Given the description of an element on the screen output the (x, y) to click on. 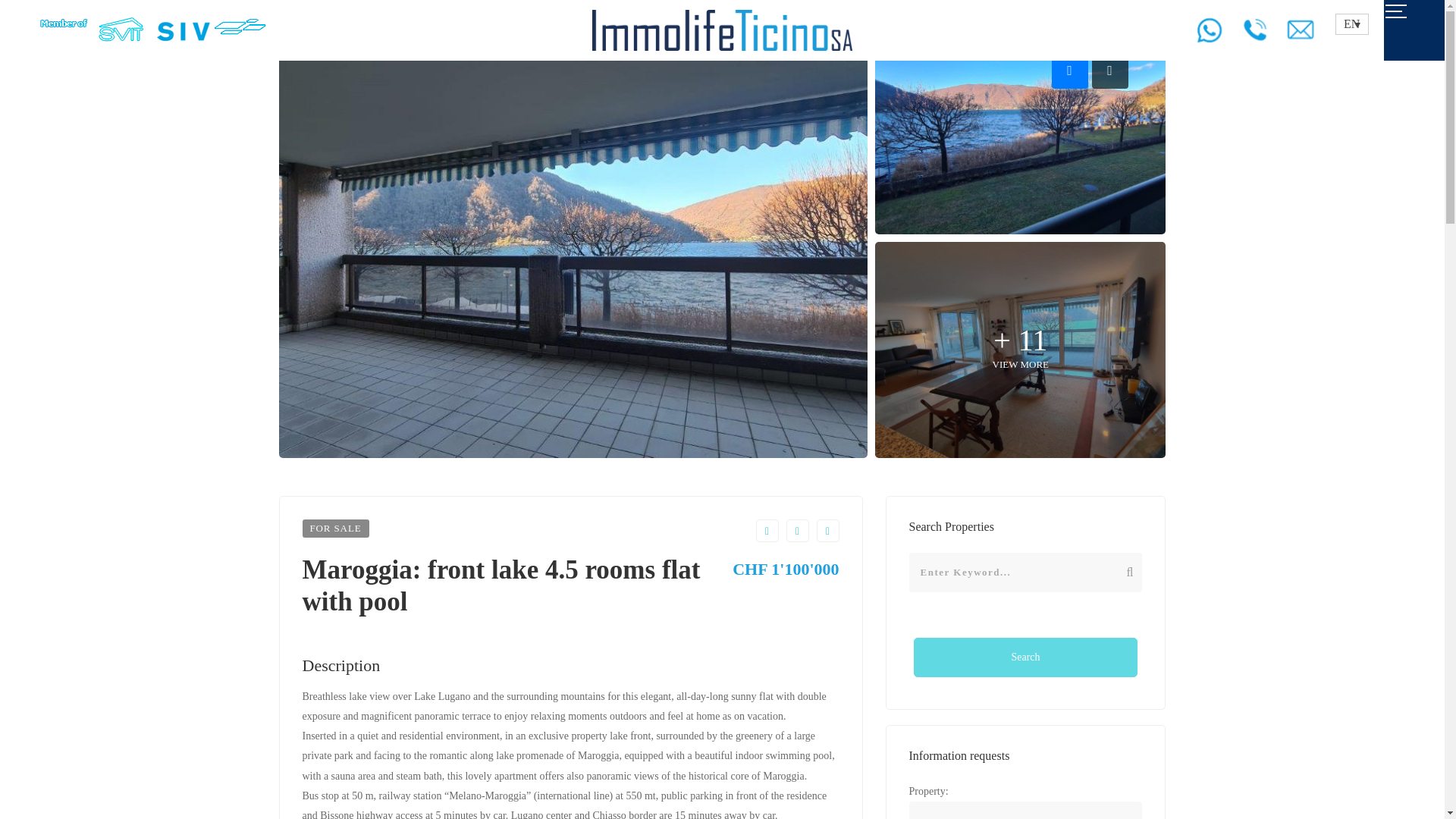
Print (826, 530)
Share (797, 530)
Compare (766, 530)
Maroggia: front lake 4.5 rooms flat with pool (1024, 810)
EN (1351, 24)
